Given the description of an element on the screen output the (x, y) to click on. 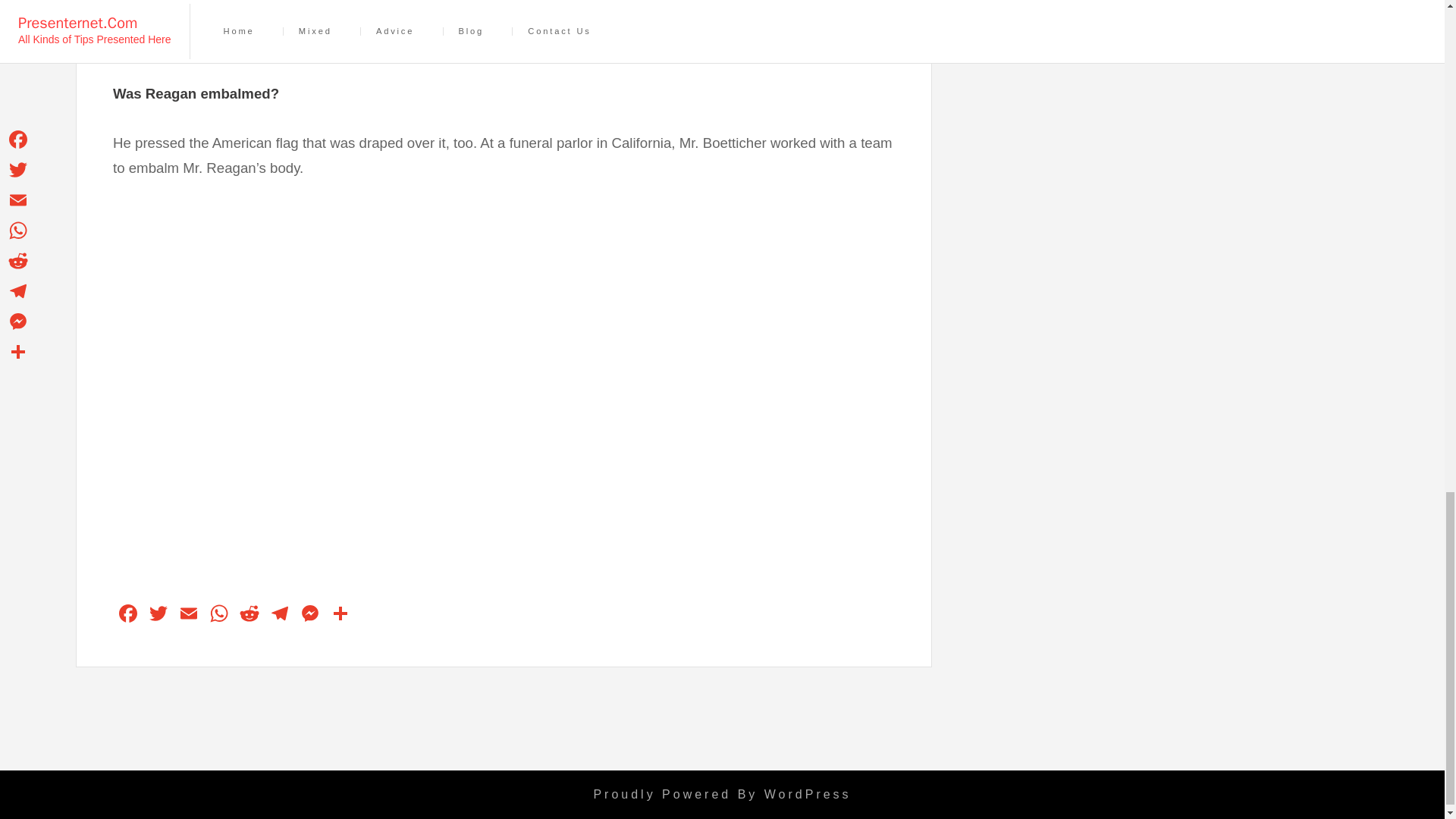
Telegram (279, 615)
Messenger (309, 615)
Facebook (127, 615)
Messenger (309, 615)
Reddit (249, 615)
Email (188, 615)
Telegram (279, 615)
Twitter (157, 615)
WhatsApp (218, 615)
